Given the description of an element on the screen output the (x, y) to click on. 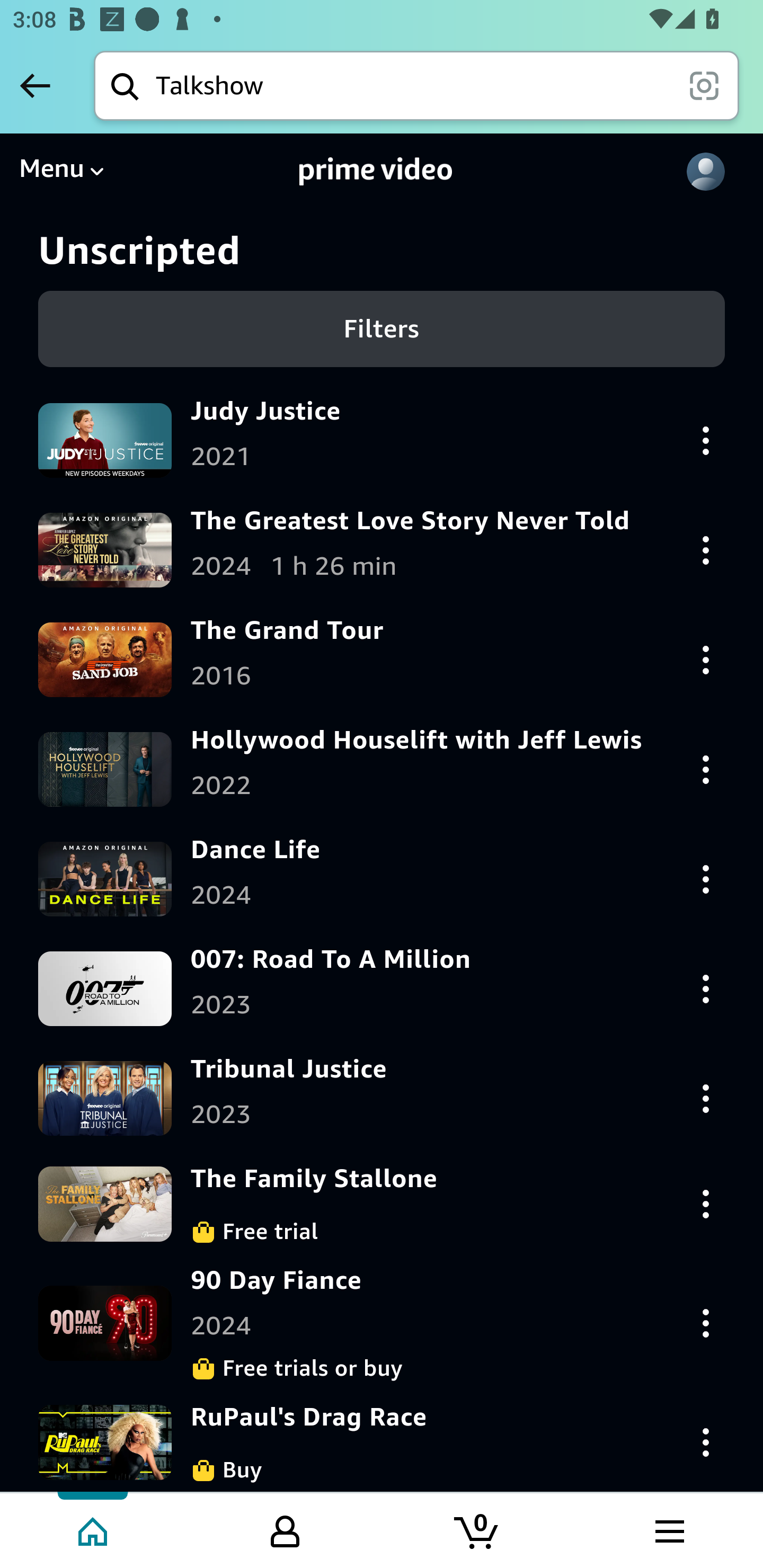
Back (35, 85)
Search Search Talkshow scan it (416, 85)
scan it (704, 85)
Menu (61, 171)
Prime Video (376, 171)
Filters (381, 328)
Judy Justice Judy Justice 2021 (381, 439)
The Grand Tour The Grand Tour 2016 (381, 659)
Dance Life Dance Life 2024 (381, 878)
007: Road To A Million 007: Road To A Million 2023 (381, 988)
Tribunal Justice Tribunal Justice 2023 (381, 1098)
The Family Stallone The Family Stallone Free trial (381, 1203)
RuPaul's Drag Race RuPaul's Drag Race Buy (381, 1442)
Home Tab 1 of 4 (94, 1529)
Your Amazon.com Tab 2 of 4 (285, 1529)
Cart 0 item Tab 3 of 4 0 (477, 1529)
Browse menu Tab 4 of 4 (668, 1529)
